Given the description of an element on the screen output the (x, y) to click on. 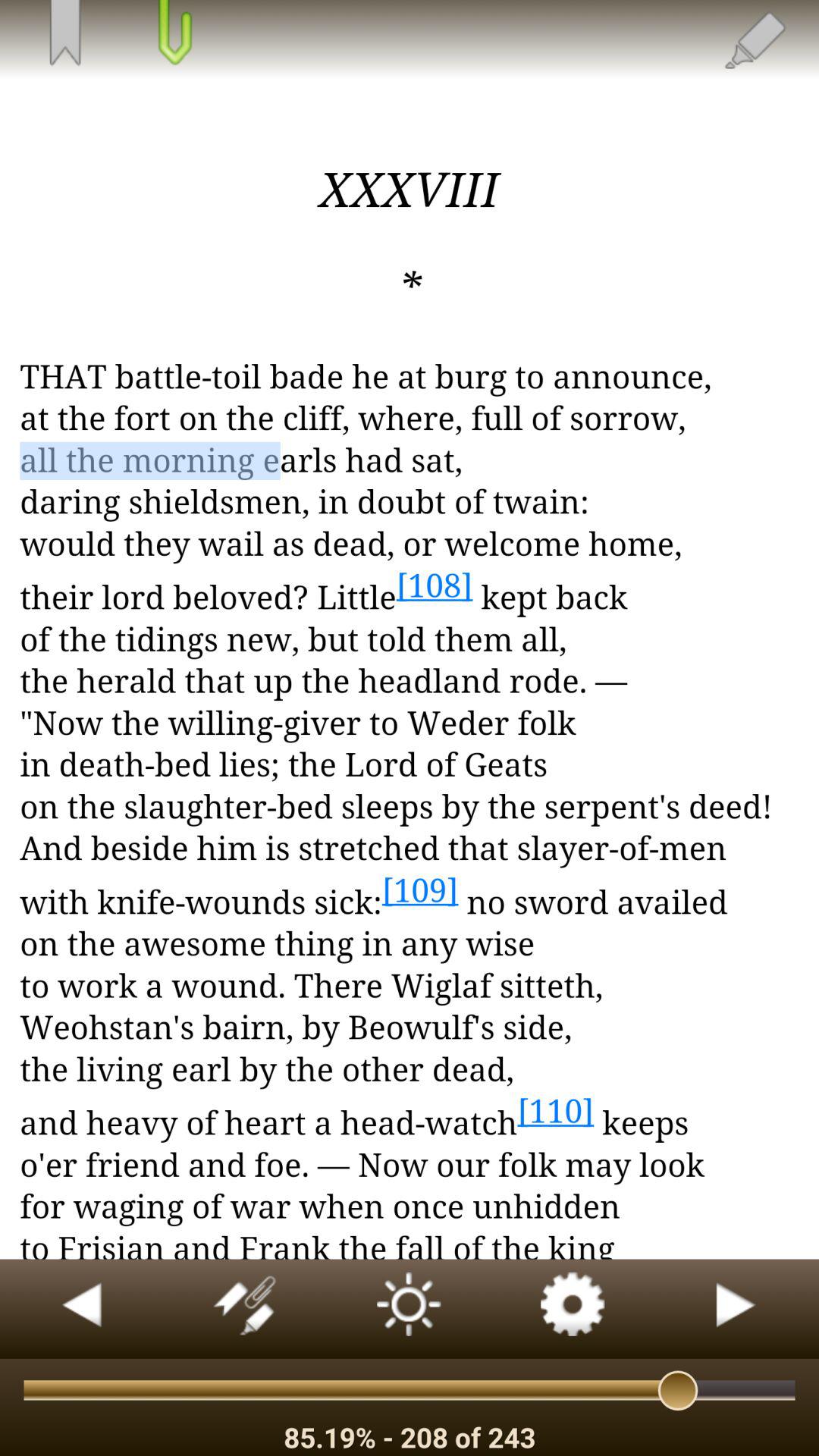
highlight option (754, 39)
